Given the description of an element on the screen output the (x, y) to click on. 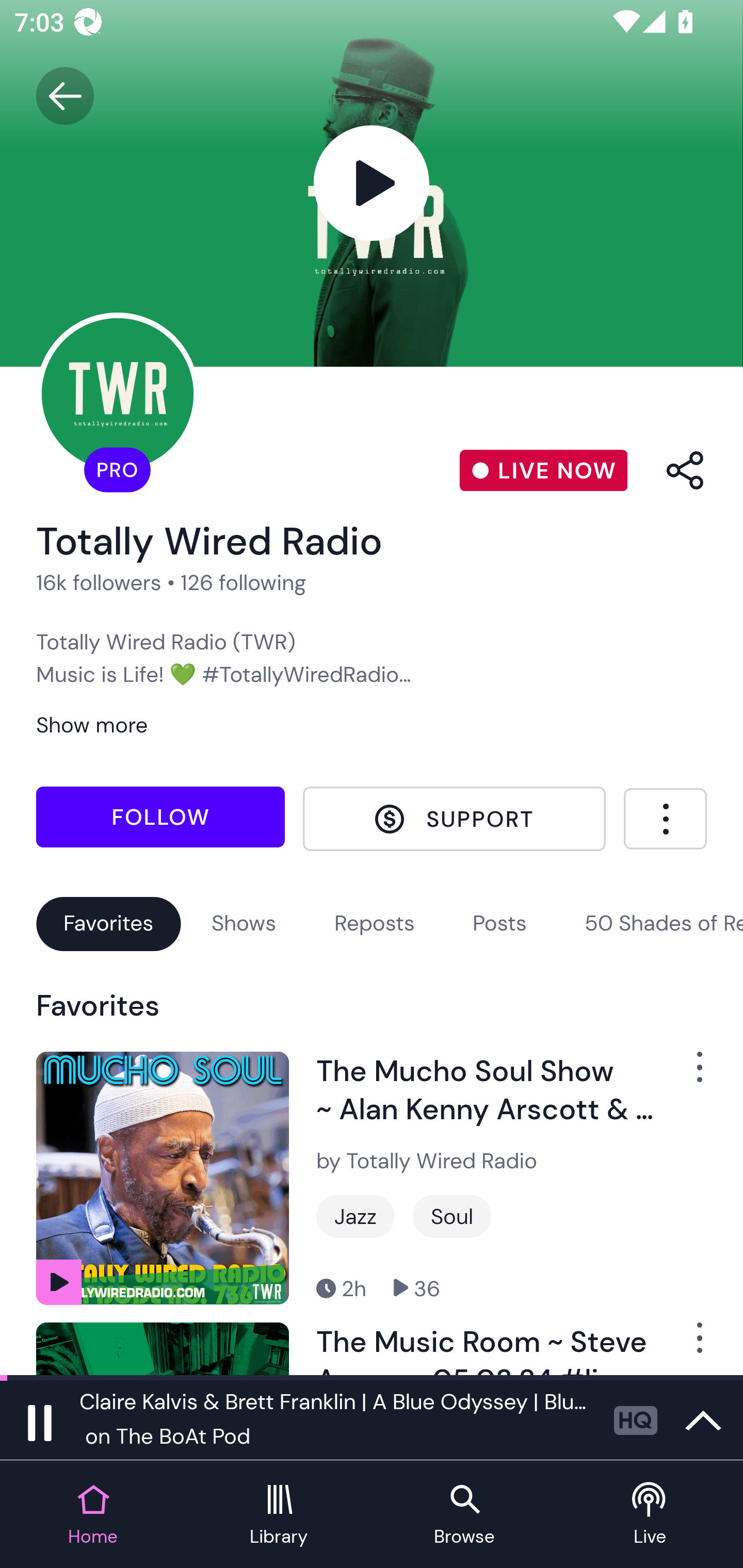
16k followers (98, 582)
126 following (243, 582)
Follow FOLLOW (160, 816)
Subscribe SUPPORT (454, 819)
More Menu (665, 818)
Favorites (108, 922)
Shows (243, 922)
Reposts (374, 922)
Posts (499, 922)
50 Shades of Reggae (663, 922)
Show Options Menu Button (688, 1075)
Jazz (355, 1215)
Soul (452, 1215)
Show Options Menu Button (688, 1344)
Home tab Home (92, 1515)
Library tab Library (278, 1515)
Browse tab Browse (464, 1515)
Live tab Live (650, 1515)
